Given the description of an element on the screen output the (x, y) to click on. 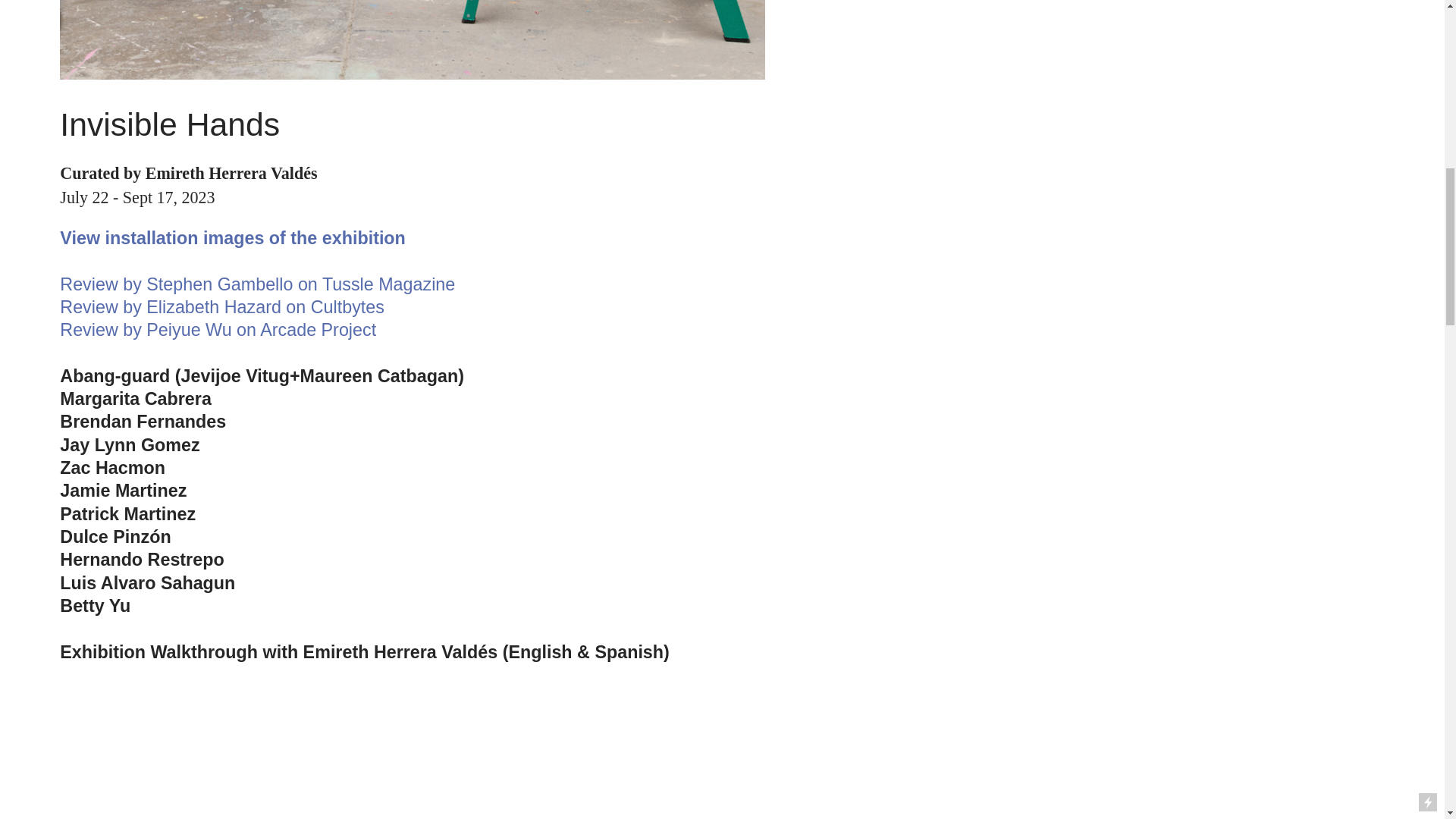
vimeo-player (301, 752)
View installation images of the exhibition (232, 238)
Review by Peiyue Wu on Arcade Project (217, 330)
Review by Elizabeth Hazard on Cultbytes (221, 307)
Review by Stephen Gambello on Tussle Magazine (256, 284)
